Given the description of an element on the screen output the (x, y) to click on. 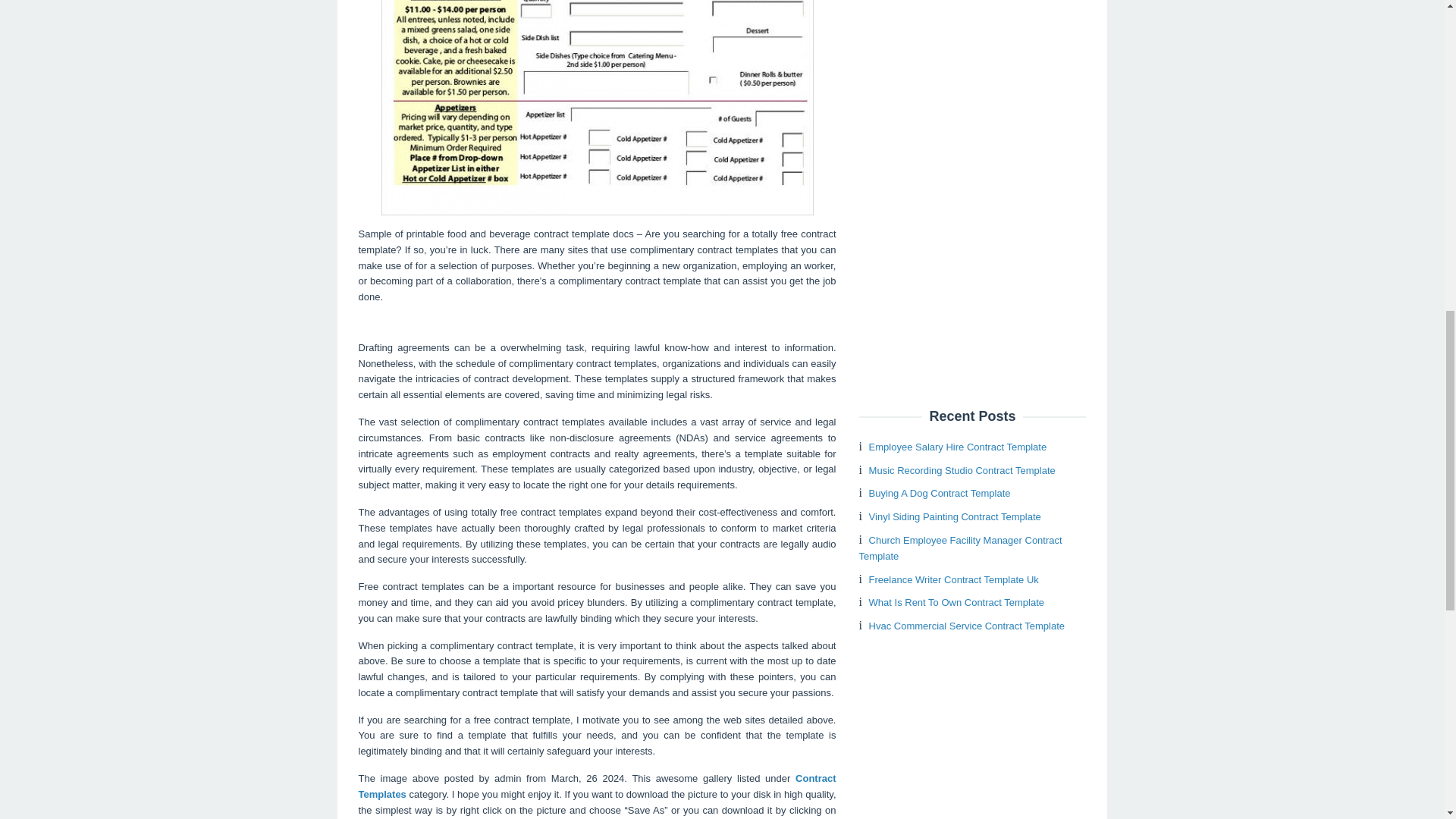
Advertisement (972, 188)
Employee Salary Hire Contract Template (957, 446)
Freelance Writer Contract Template Uk (954, 579)
Music Recording Studio Contract Template (962, 470)
What Is Rent To Own Contract Template (956, 602)
Contract Templates (596, 786)
Buying A Dog Contract Template (939, 492)
Hvac Commercial Service Contract Template (966, 625)
Sample of Printable Food And Beverage Contract Template Docs (596, 107)
Church Employee Facility Manager Contract Template (960, 547)
Vinyl Siding Painting Contract Template (955, 516)
